Given the description of an element on the screen output the (x, y) to click on. 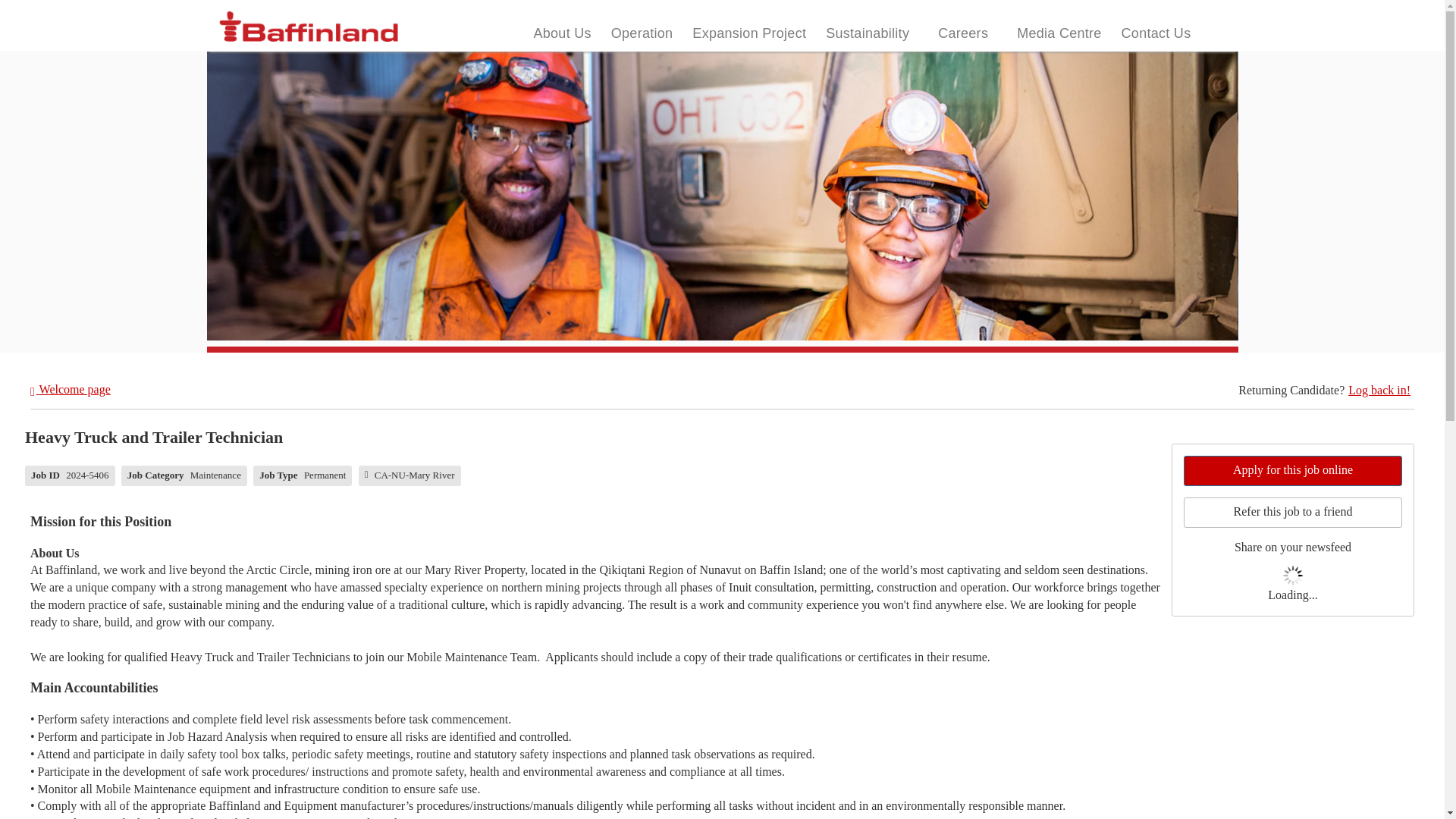
Expansion Project (748, 33)
Contact Us (1155, 33)
Media Centre (1058, 33)
Expansion Project (748, 33)
Careers (963, 33)
Sustainability (867, 33)
Operation (642, 33)
Sustainability (867, 33)
About Us (561, 33)
Media Centre (1058, 33)
